Given the description of an element on the screen output the (x, y) to click on. 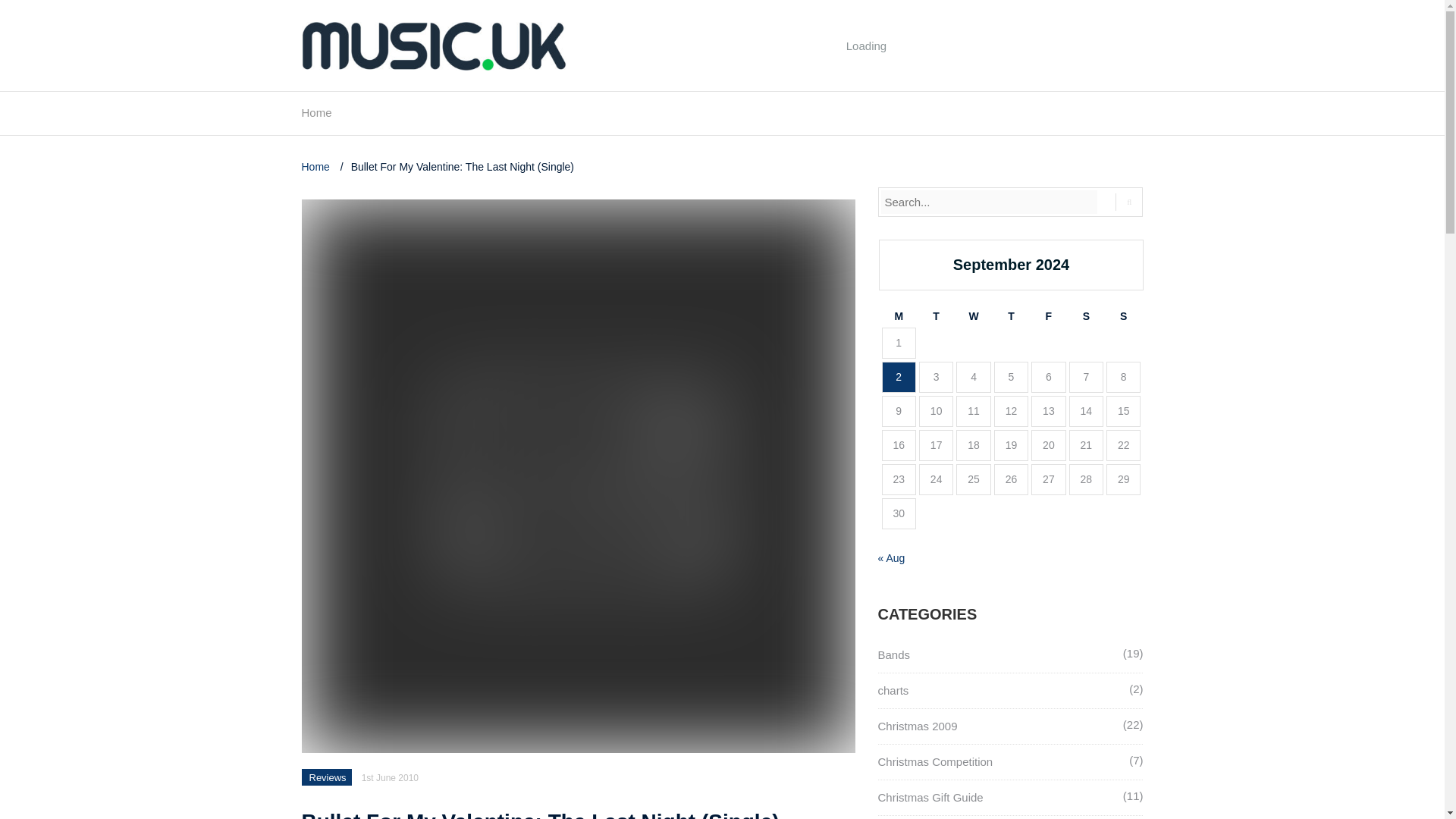
Friday (1047, 316)
charts (892, 689)
Christmas Gift Guide (930, 797)
Sunday (1123, 316)
Advertisement (866, 80)
Tuesday (935, 316)
Home (316, 116)
Wednesday (973, 316)
Christmas 2009 (917, 725)
Home (317, 166)
